Given the description of an element on the screen output the (x, y) to click on. 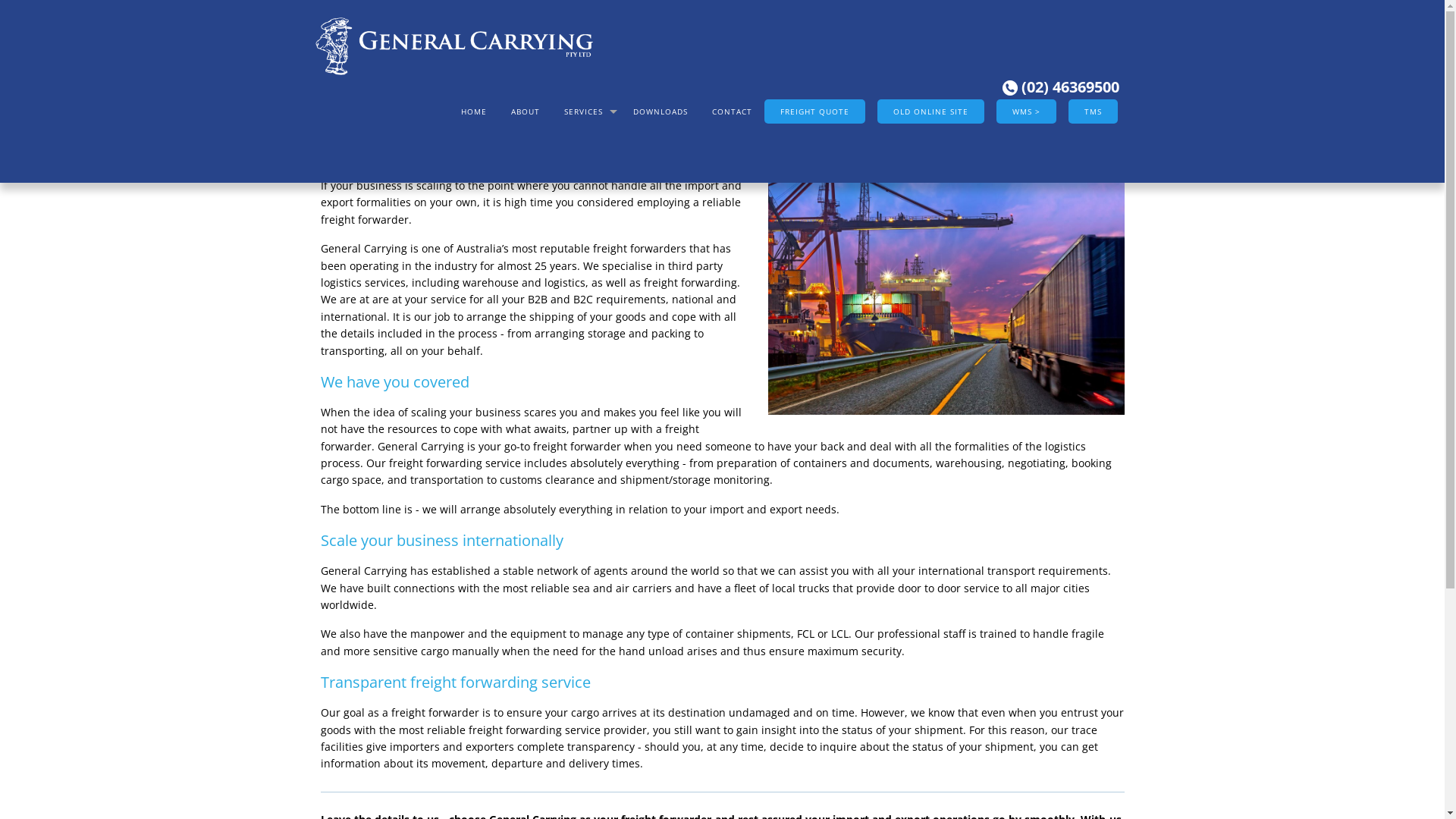
SERVICES Element type: text (586, 110)
(02) 46369500 Element type: text (1060, 85)
CONTACT Element type: text (731, 110)
WMS > Element type: text (1026, 111)
DOWNLOADS Element type: text (659, 110)
TMS Element type: text (1092, 111)
HOME Element type: text (473, 110)
FREIGHT QUOTE Element type: text (814, 111)
OLD ONLINE SITE Element type: text (929, 111)
ABOUT Element type: text (525, 110)
